Given the description of an element on the screen output the (x, y) to click on. 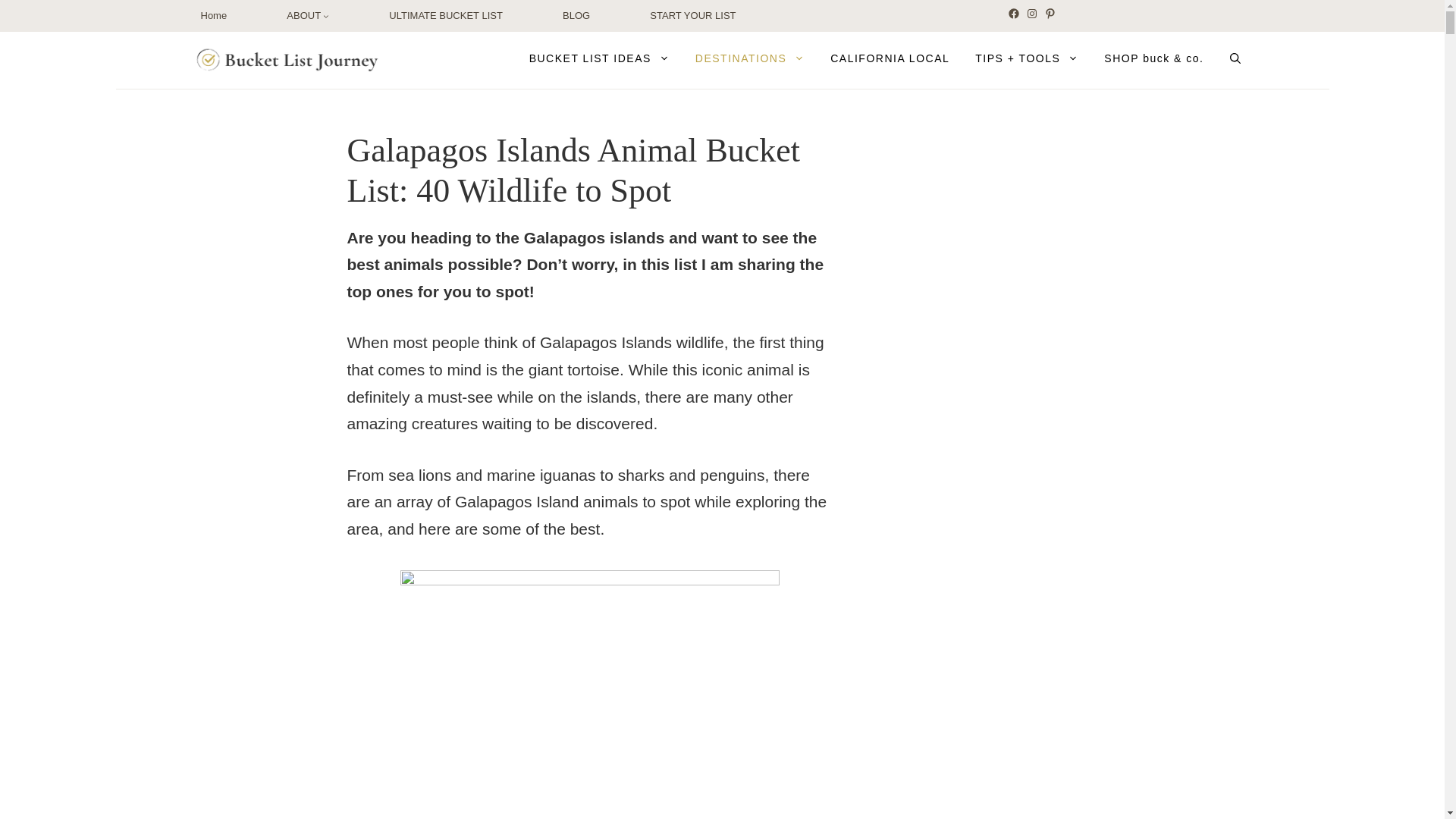
Pinterest (1049, 13)
CALIFORNIA LOCAL (889, 58)
DESTINATIONS (749, 58)
BUCKET LIST IDEAS (599, 58)
ULTIMATE BUCKET LIST (445, 15)
Home (213, 15)
BLOG (575, 15)
ULTIMATE BUCKET LIST (445, 15)
Instagram (1030, 13)
START YOUR LIST (692, 15)
